Given the description of an element on the screen output the (x, y) to click on. 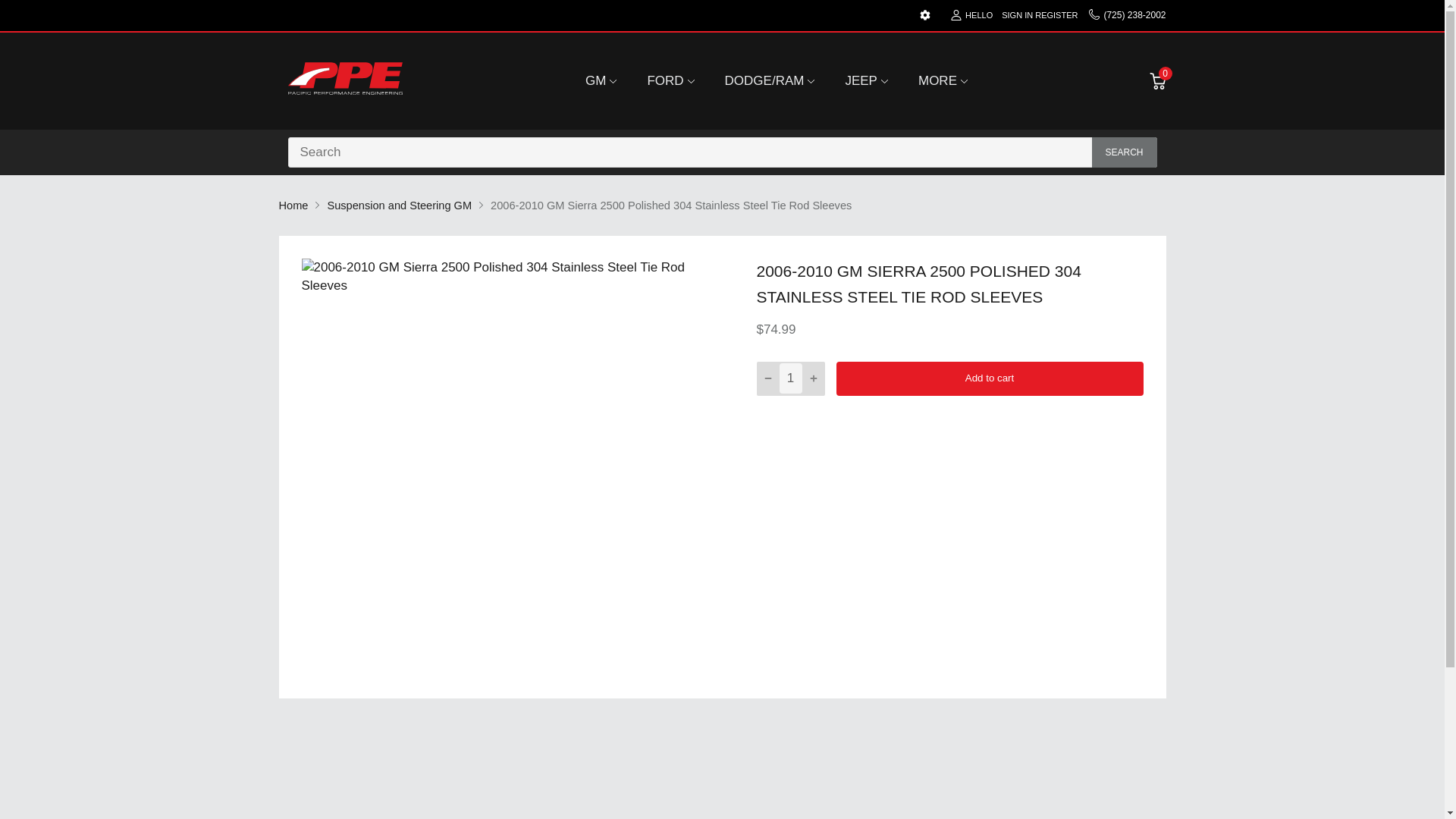
SIGN IN (1016, 14)
SEARCH (1124, 152)
Add to cart (988, 378)
MORE (937, 80)
Suspension and Steering GM (398, 205)
0 (1158, 80)
HELLO (971, 15)
FORD (664, 80)
Twitter (855, 445)
REGISTER (1056, 14)
